Given the description of an element on the screen output the (x, y) to click on. 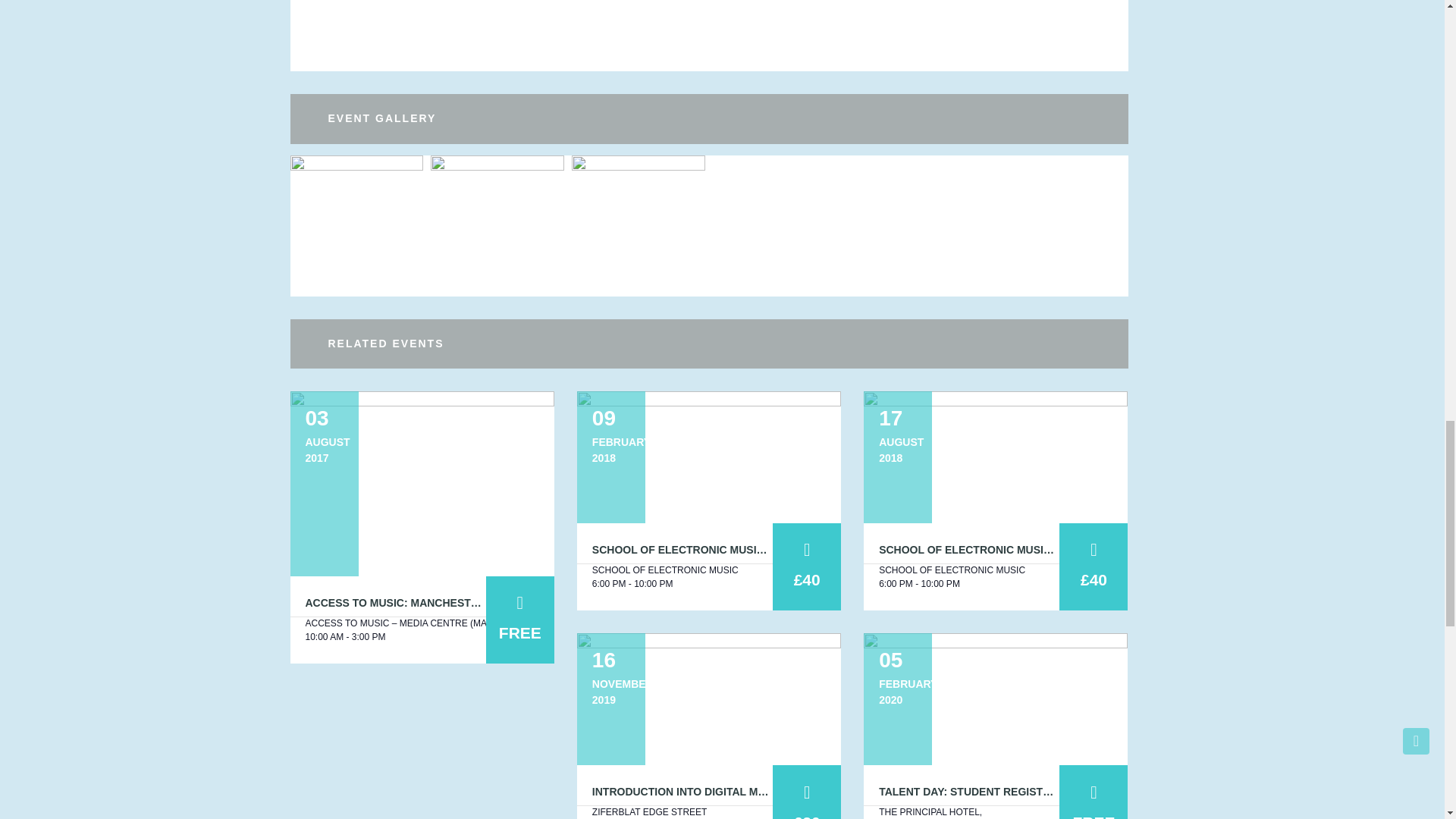
openday2 (497, 220)
Futureworkscover (638, 220)
openday1 (356, 220)
